Given the description of an element on the screen output the (x, y) to click on. 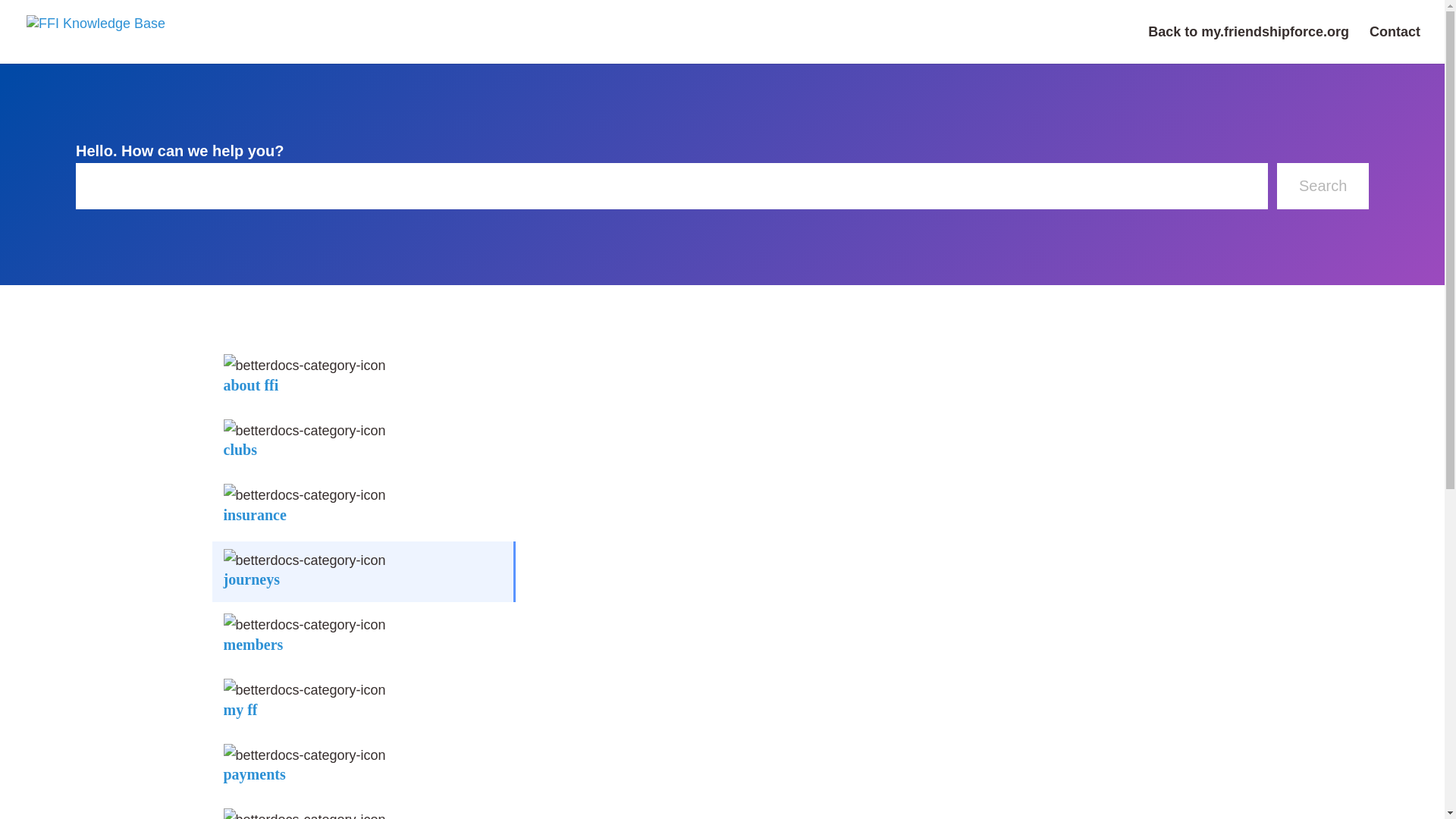
Search (1322, 185)
Back to my.friendshipforce.org (1248, 44)
Contact (1395, 44)
Search (1322, 185)
